Given the description of an element on the screen output the (x, y) to click on. 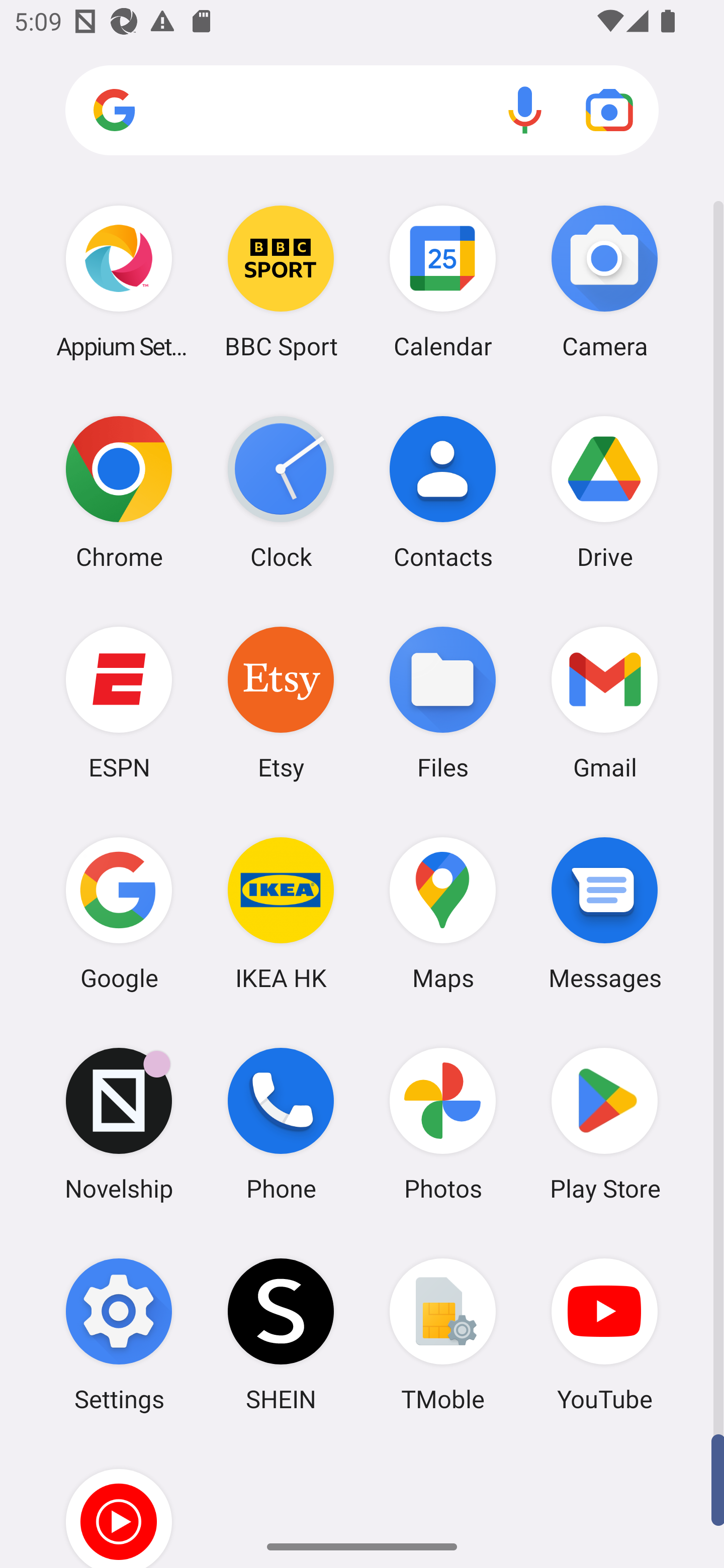
Search apps, web and more (361, 110)
Voice search (524, 109)
Google Lens (608, 109)
Appium Settings (118, 281)
BBC Sport (280, 281)
Calendar (443, 281)
Camera (604, 281)
Chrome (118, 492)
Clock (280, 492)
Contacts (443, 492)
Drive (604, 492)
ESPN (118, 702)
Etsy (280, 702)
Files (443, 702)
Gmail (604, 702)
Google (118, 913)
IKEA HK (280, 913)
Maps (443, 913)
Messages (604, 913)
Novelship Novelship has 1 notification (118, 1124)
Phone (280, 1124)
Photos (443, 1124)
Play Store (604, 1124)
Settings (118, 1334)
SHEIN (280, 1334)
TMoble (443, 1334)
YouTube (604, 1334)
YT Music (118, 1503)
